Given the description of an element on the screen output the (x, y) to click on. 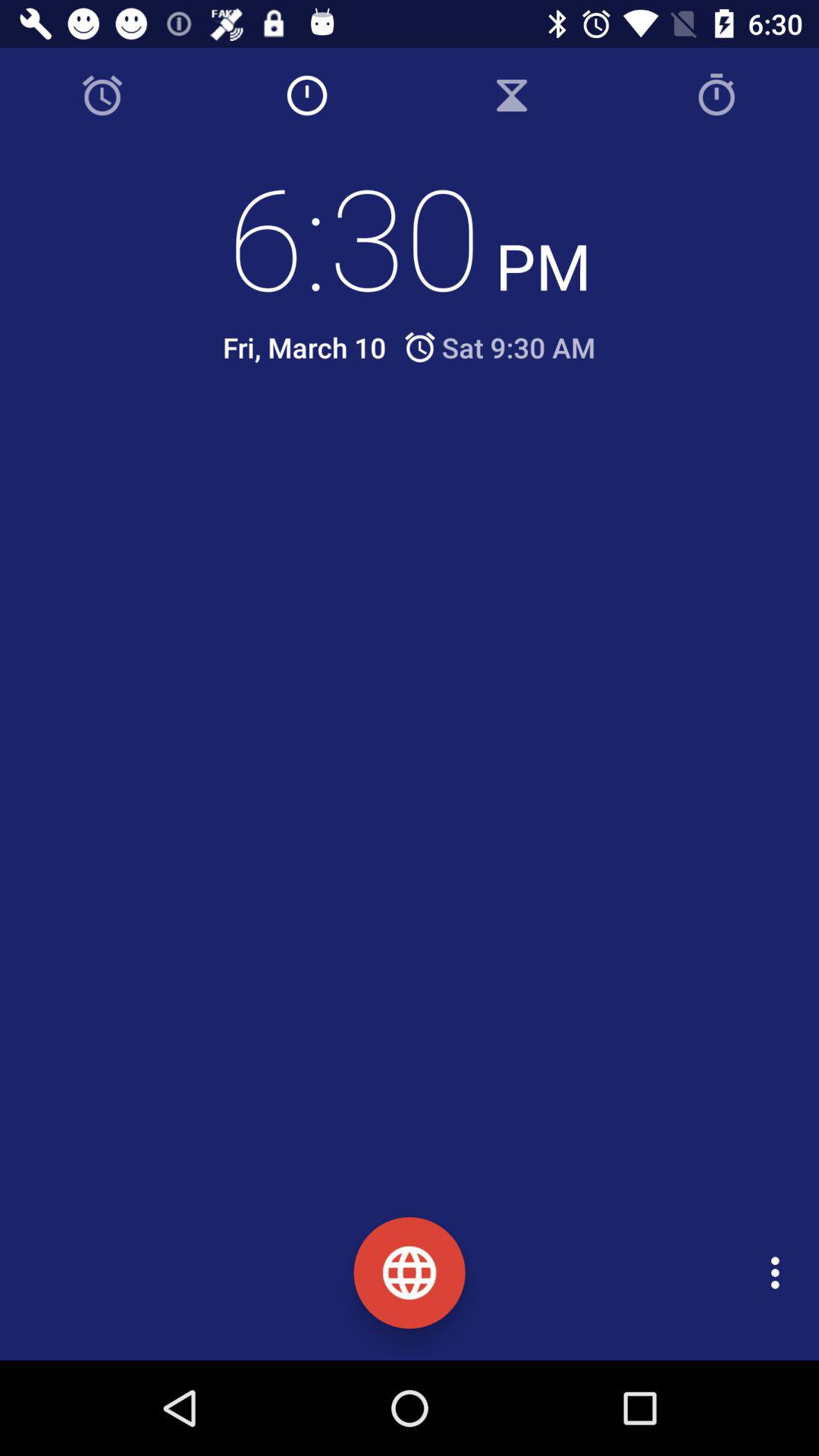
tap the item at the bottom right corner (779, 1272)
